Given the description of an element on the screen output the (x, y) to click on. 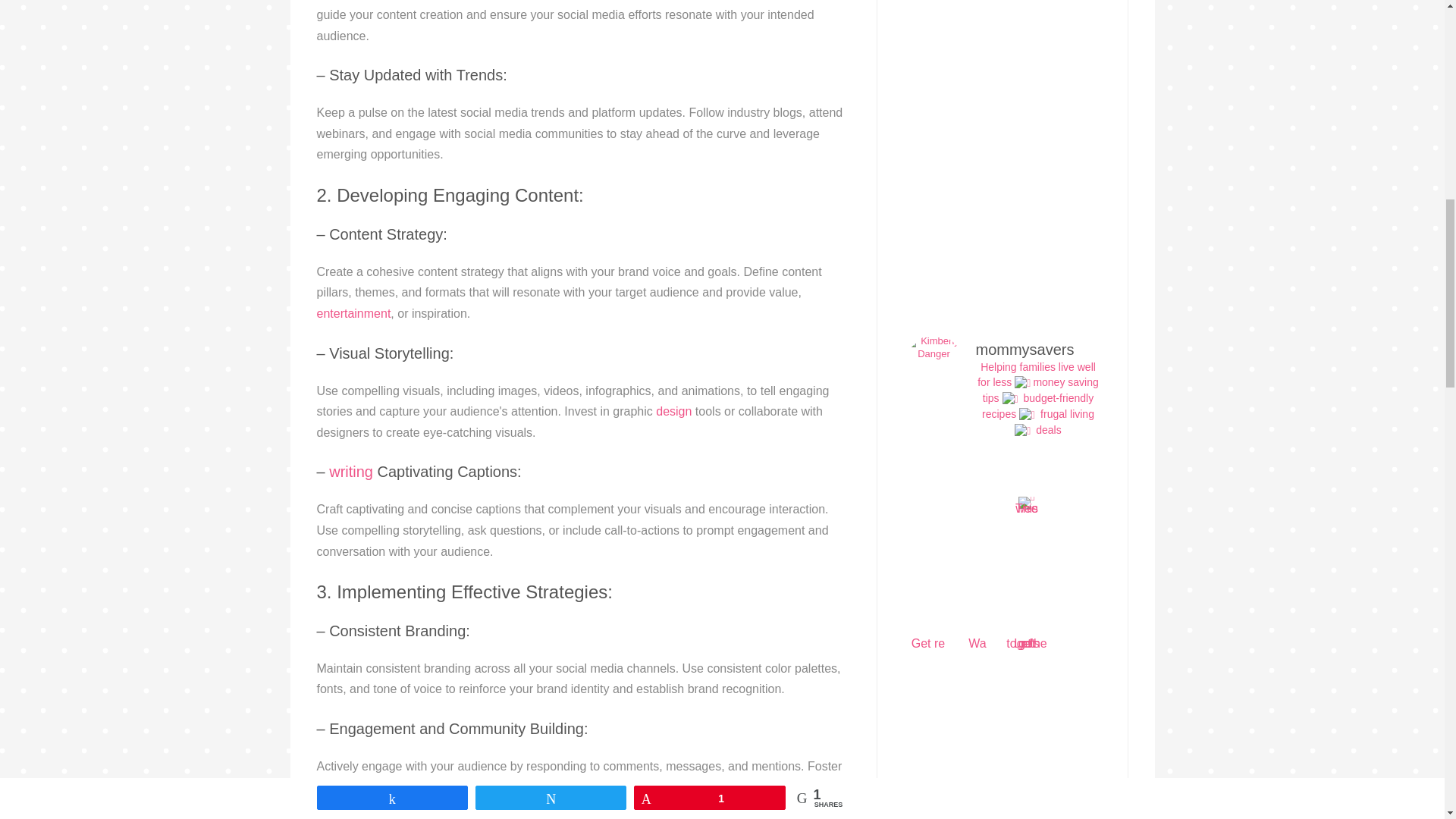
Posts tagged with entertainment (354, 313)
Posts tagged with writing (350, 471)
Posts tagged with design (673, 410)
